Given the description of an element on the screen output the (x, y) to click on. 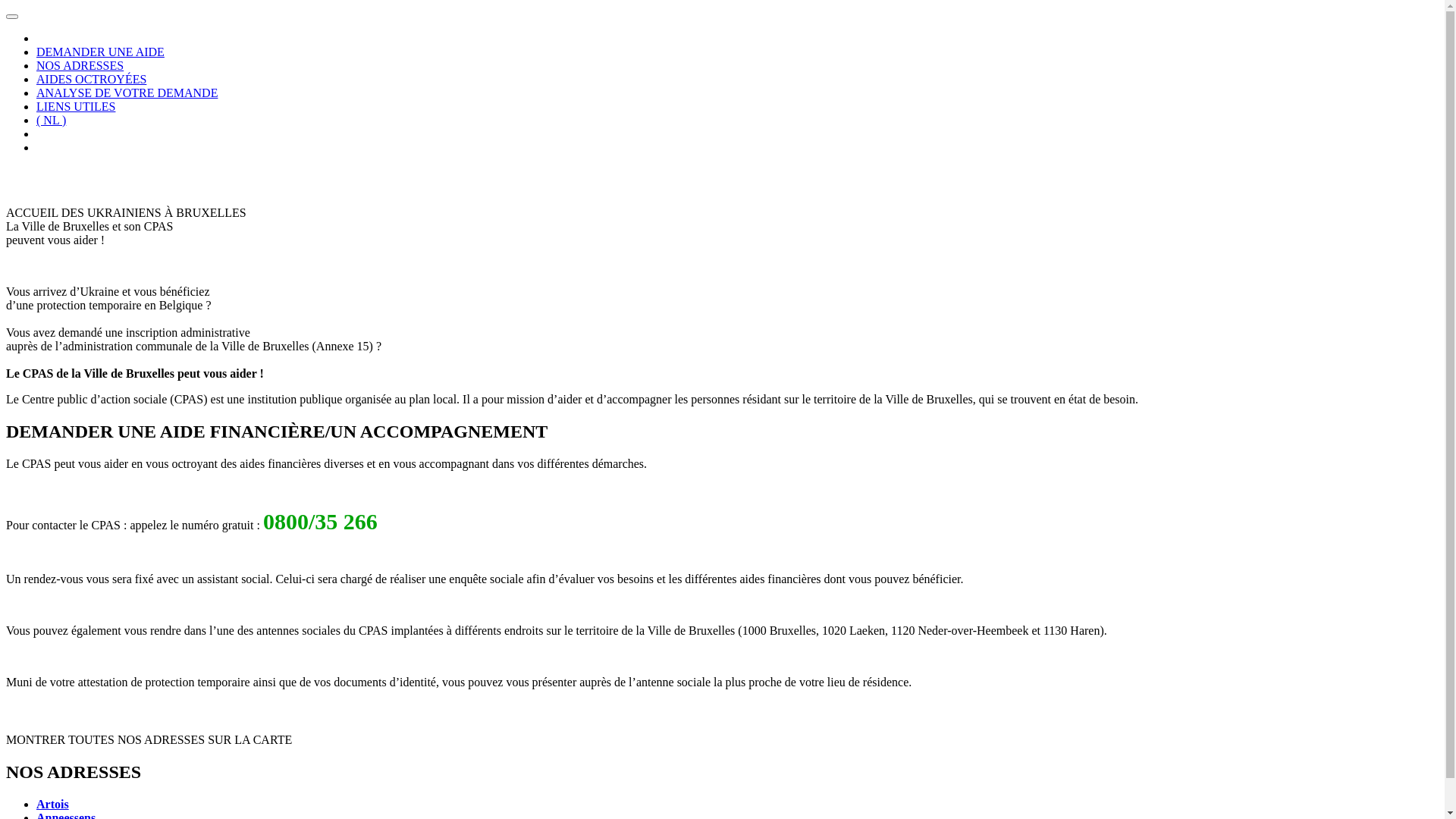
NOS ADRESSES Element type: text (79, 65)
LIENS UTILES Element type: text (75, 106)
DEMANDER UNE AIDE Element type: text (100, 51)
ANALYSE DE VOTRE DEMANDE Element type: text (126, 92)
( NL ) Element type: text (50, 119)
Artois Element type: text (52, 803)
MONTRER TOUTES NOS ADRESSES SUR LA CARTE Element type: text (148, 739)
